Given the description of an element on the screen output the (x, y) to click on. 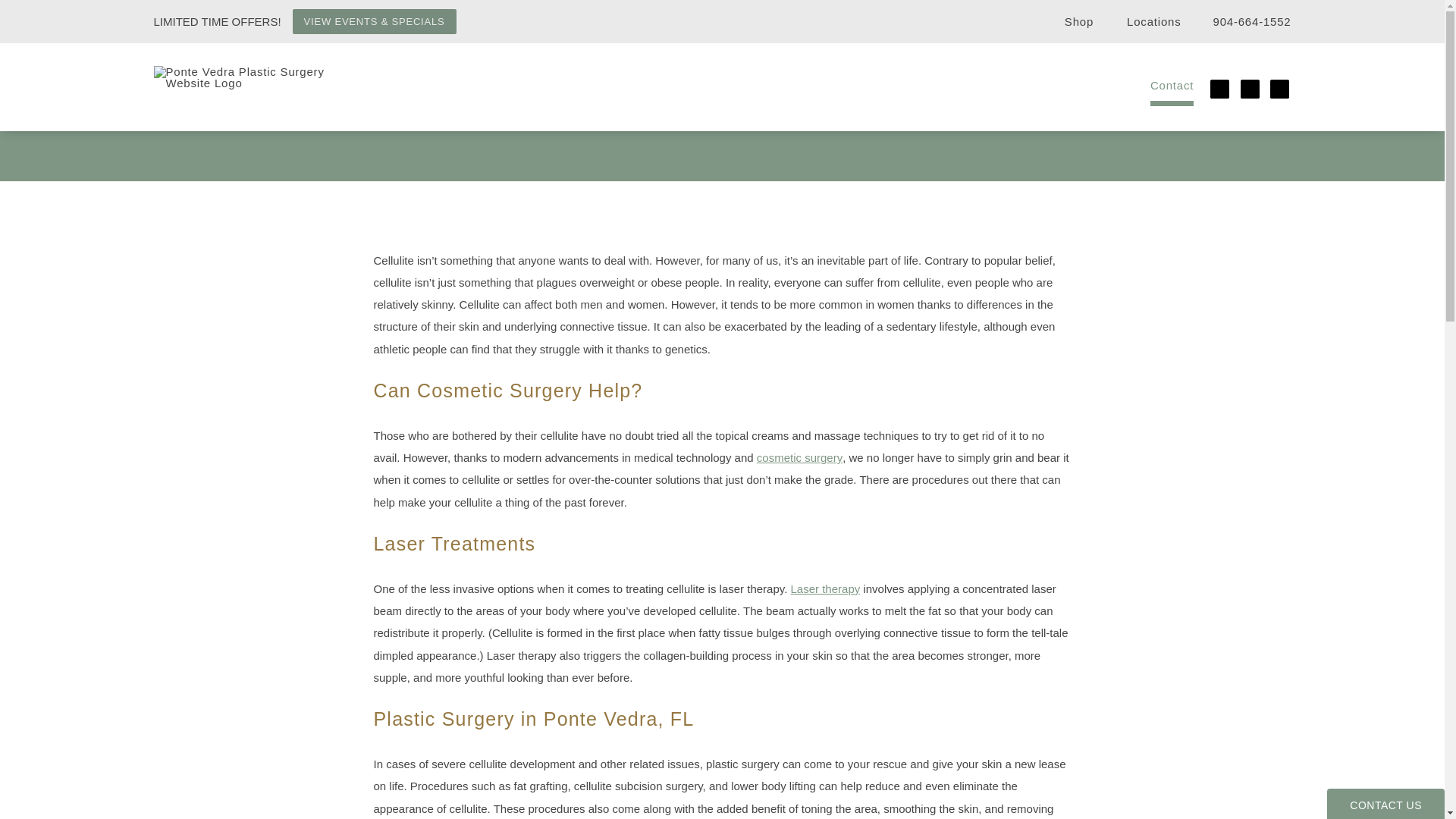
904-664-1552 (1242, 20)
Locations (1144, 20)
Shop (1070, 20)
Ponte Vedra Plastic Surgery on Instagram (1280, 90)
Ponte Vedra Plastic Surgery on Facebook (1220, 90)
Ponte Vedra Plastic Surgery on Twitter (1251, 90)
